Given the description of an element on the screen output the (x, y) to click on. 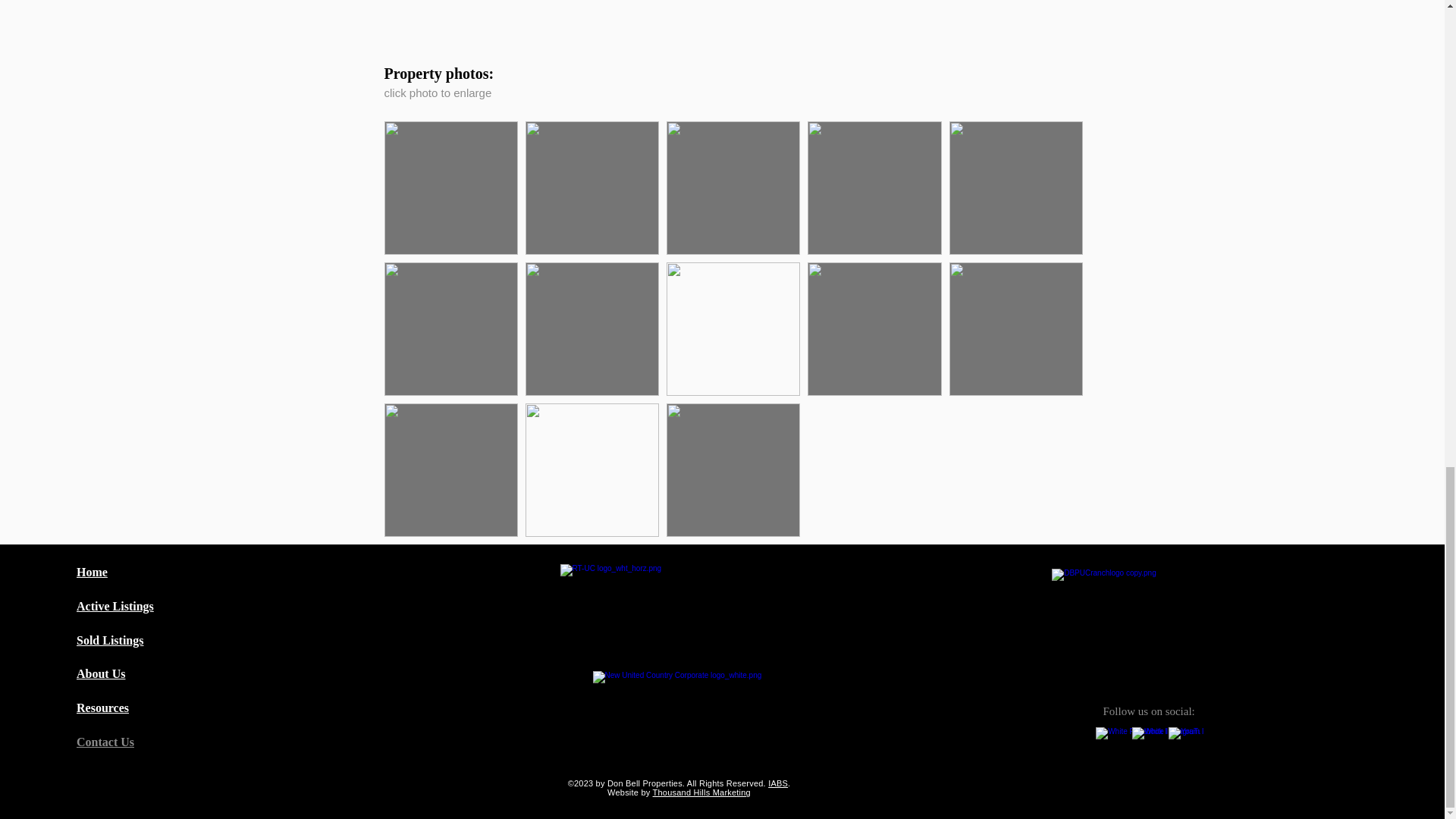
Thousand Hills Marketing (701, 791)
IABS (777, 782)
Resources (103, 707)
Contact Us (105, 741)
Active Listings (115, 605)
Home (92, 571)
About Us (101, 681)
Sold Listings (109, 640)
